Given the description of an element on the screen output the (x, y) to click on. 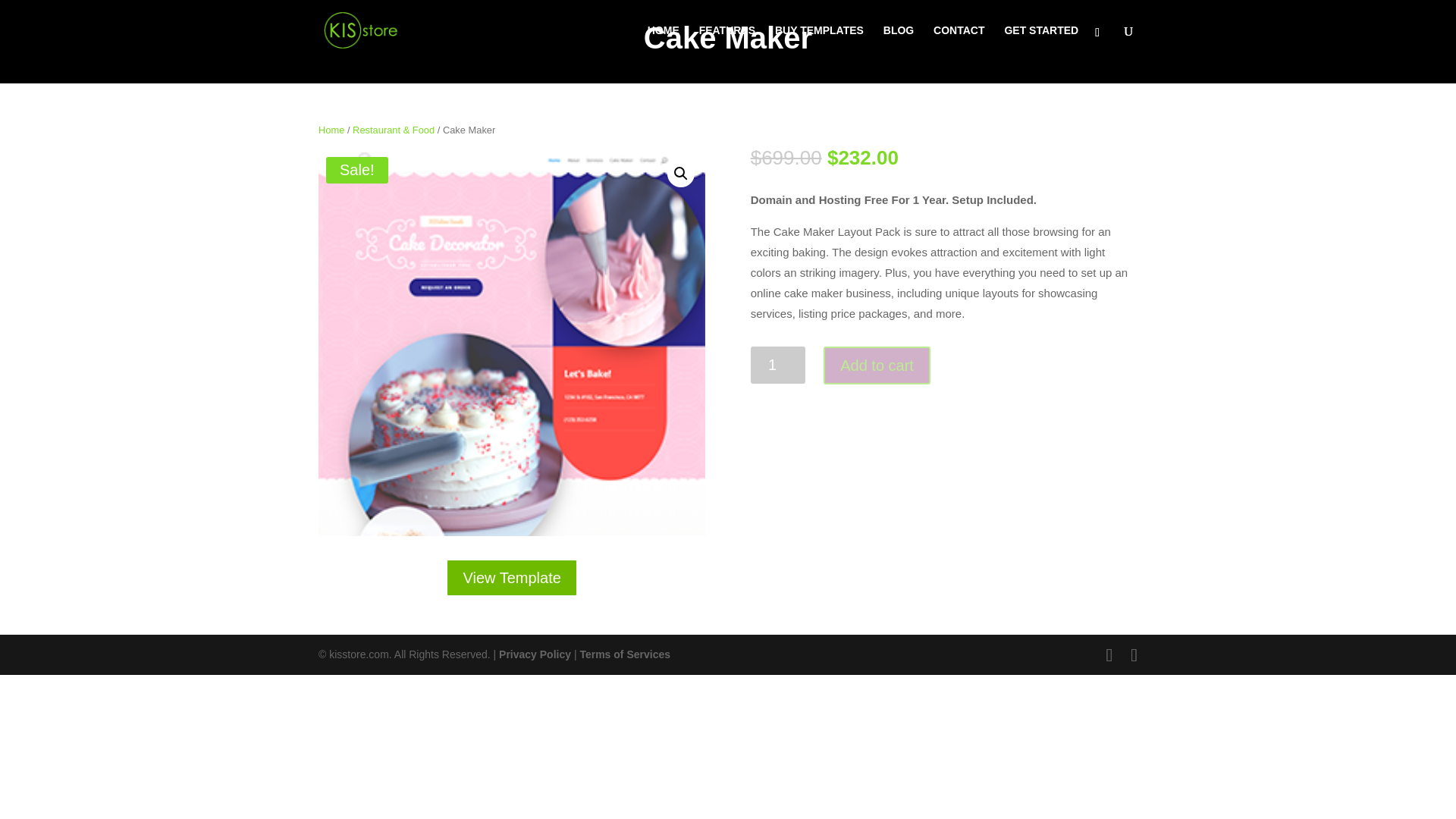
1 (778, 365)
Privacy Policy (534, 654)
Qty (778, 365)
Home (330, 129)
GET STARTED (1041, 42)
BUY TEMPLATES (818, 42)
View Template (510, 577)
FEATURES (726, 42)
Add to cart (877, 365)
CONTACT (958, 42)
HOME (663, 42)
Terms of Services (624, 654)
